Given the description of an element on the screen output the (x, y) to click on. 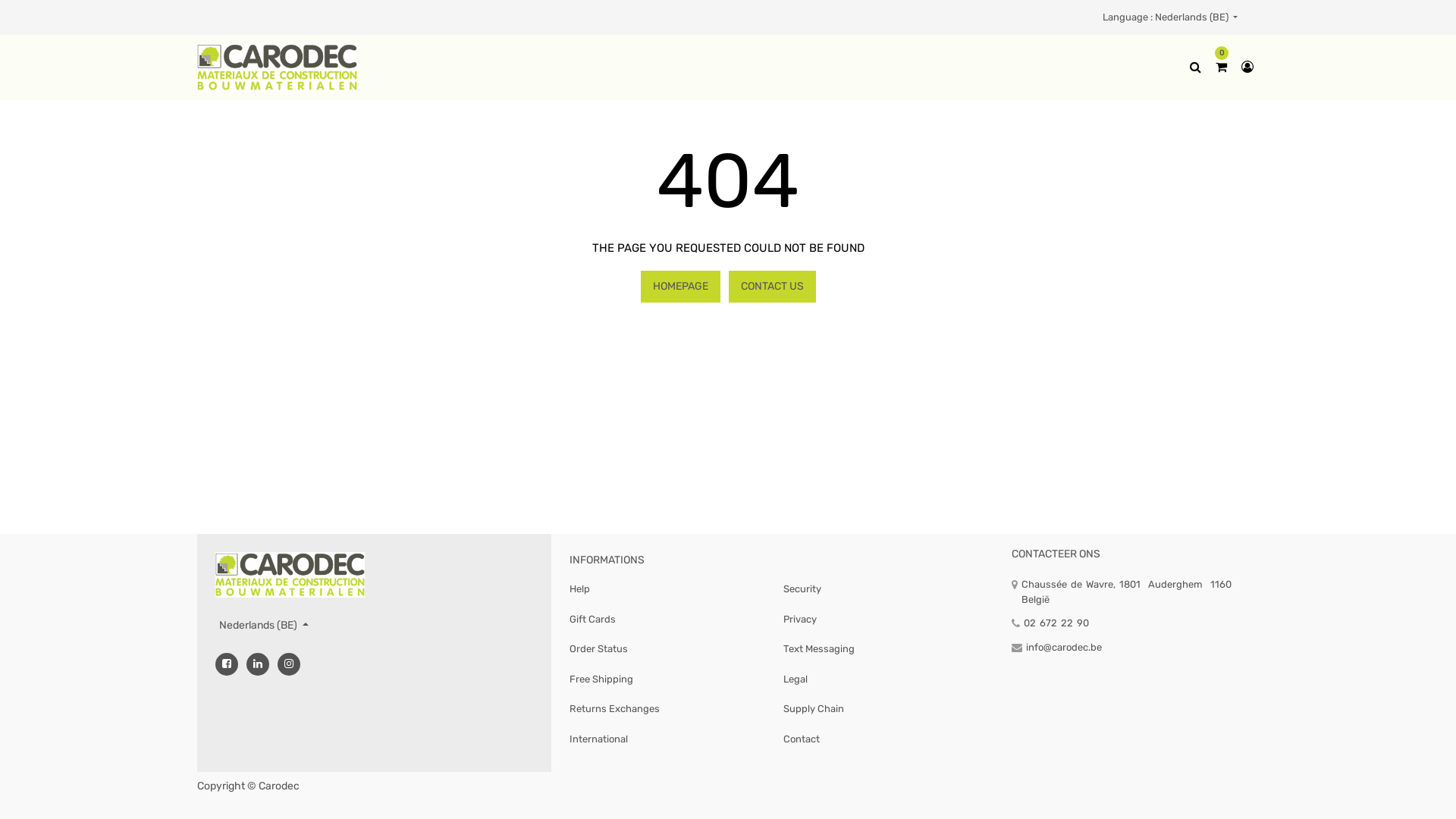
International Element type: text (598, 737)
HOMEPAGE Element type: text (679, 285)
Gift Cards Element type: text (592, 618)
Returns Exchanges Element type: text (614, 708)
Free Shipping Element type: text (601, 678)
Order Status Element type: text (598, 648)
Text Messaging Element type: text (818, 648)
Supply Chain Element type: text (813, 708)
Carodec Element type: hover (277, 65)
Help Element type: text (579, 588)
CONTACT US Element type: text (771, 285)
0 Element type: text (1220, 66)
Language : Nederlands (BE) Element type: text (1169, 17)
Legal Element type: text (795, 678)
Security Element type: text (802, 588)
Contact Element type: text (801, 737)
Privacy Element type: text (799, 618)
Carodec Element type: hover (289, 573)
Nederlands (BE) Element type: text (263, 624)
